Given the description of an element on the screen output the (x, y) to click on. 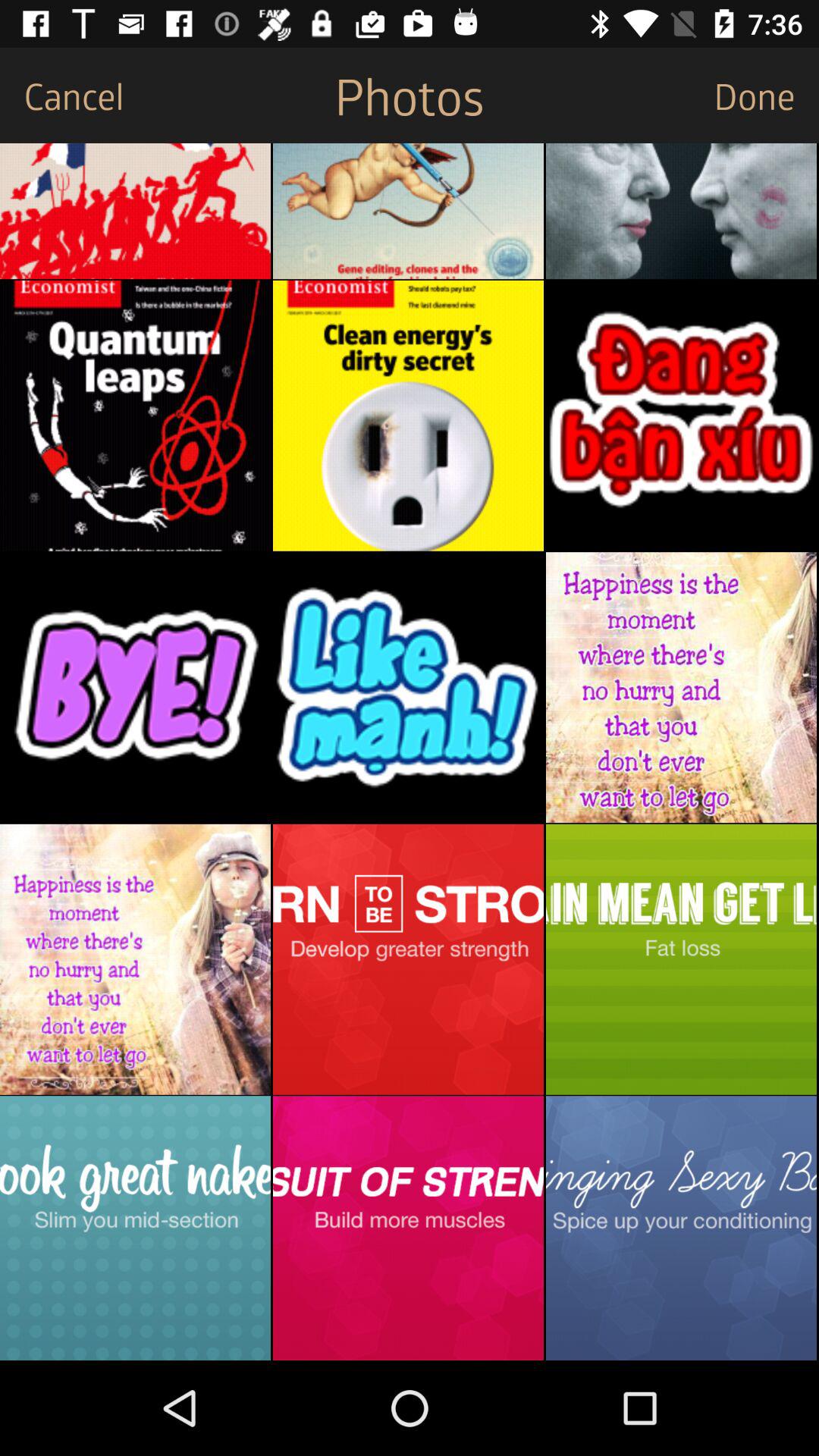
share the image (408, 211)
